Given the description of an element on the screen output the (x, y) to click on. 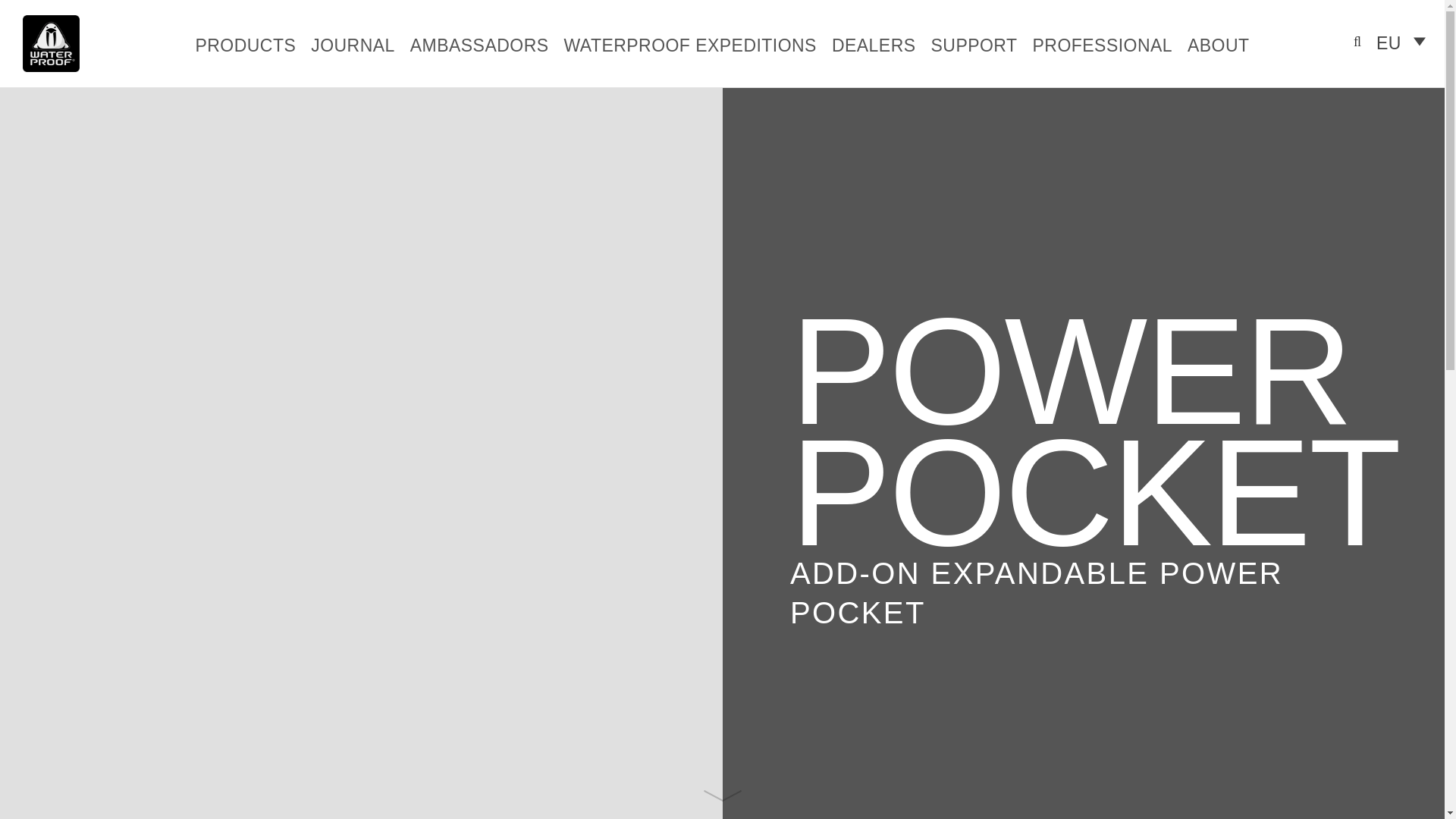
Waterproof Diving (51, 42)
